Given the description of an element on the screen output the (x, y) to click on. 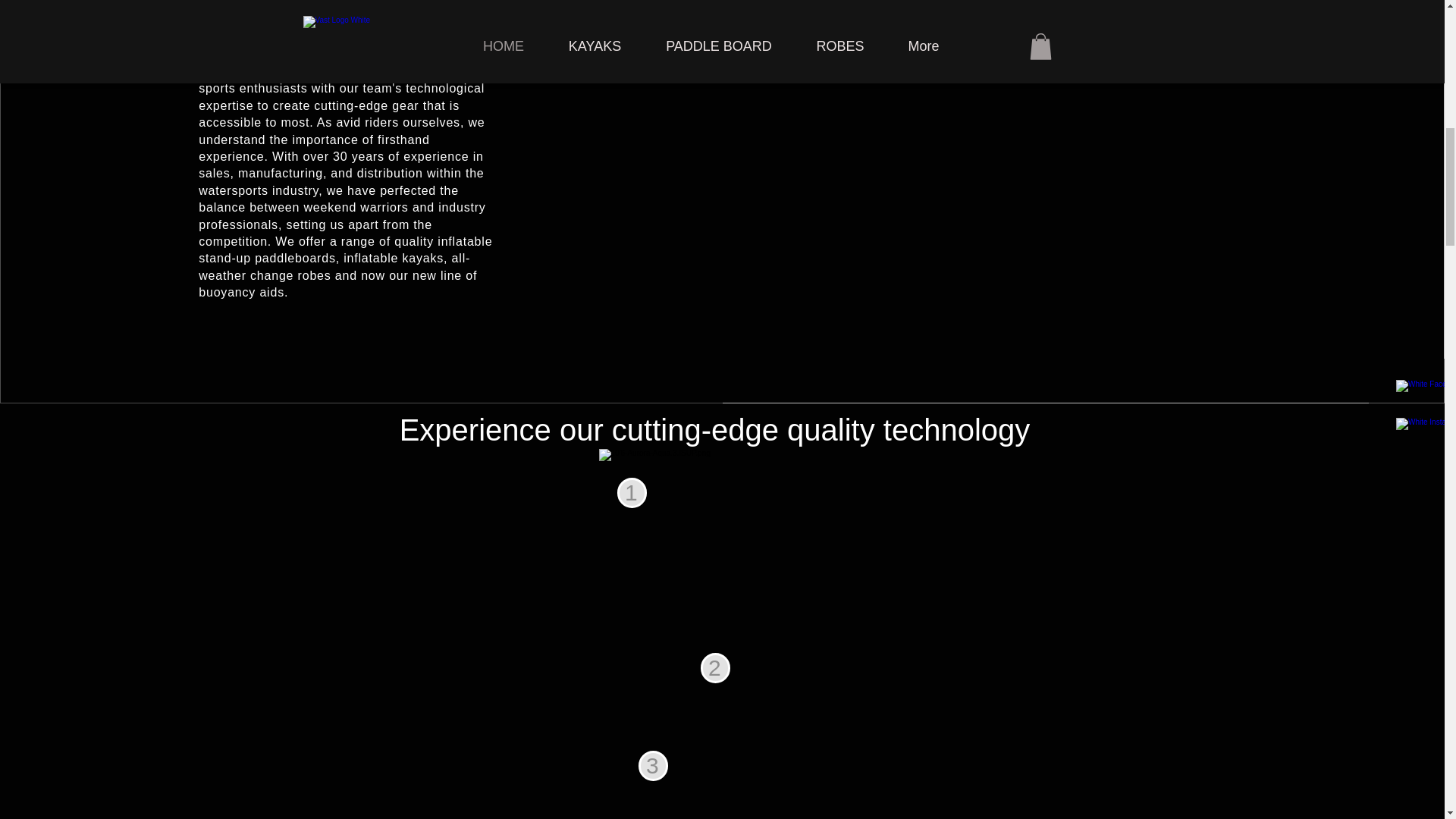
1 (631, 492)
2 (715, 667)
3 (653, 766)
